Given the description of an element on the screen output the (x, y) to click on. 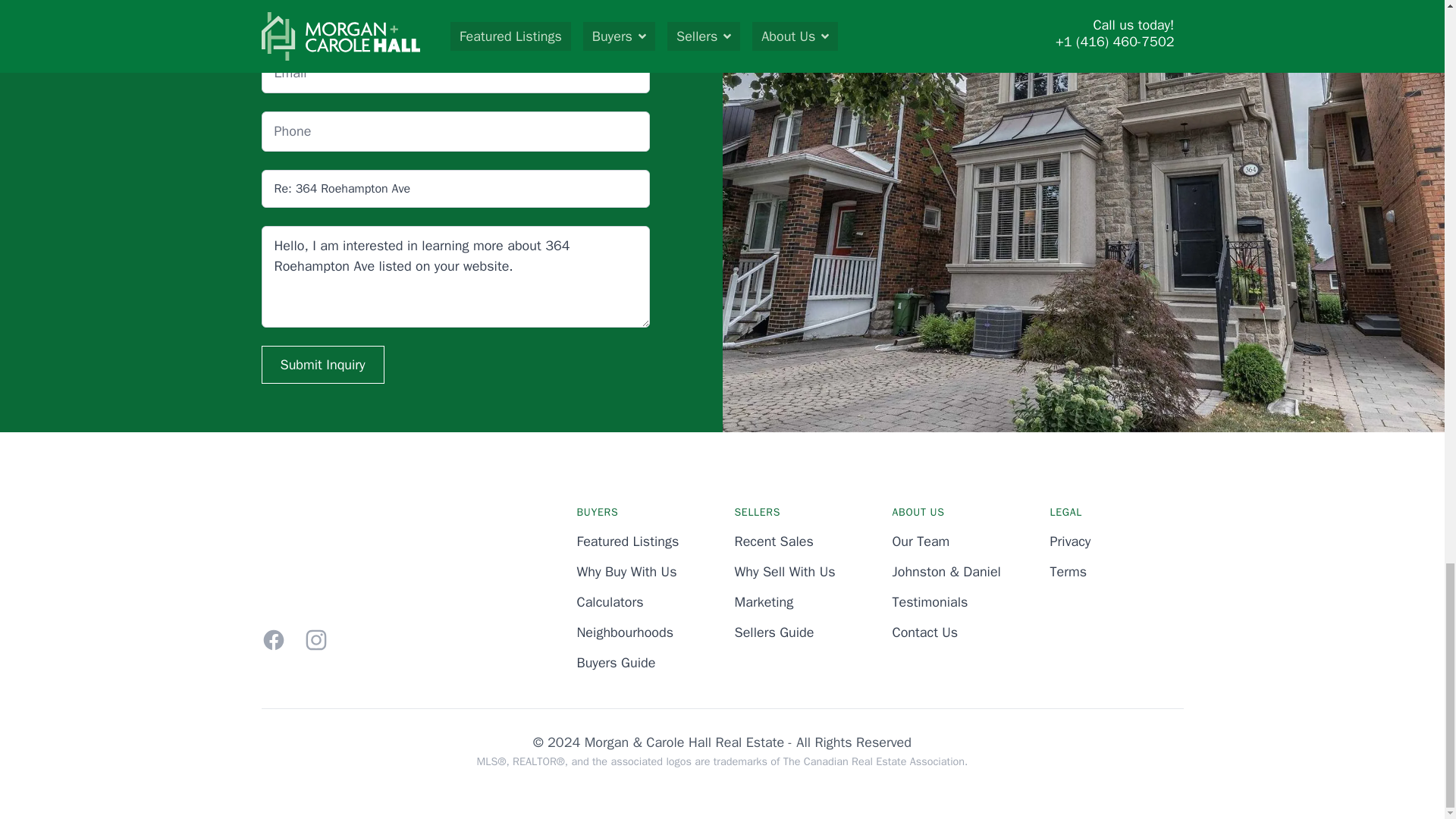
Instagram (314, 639)
Contact Us (924, 632)
Terms (1067, 571)
Sellers Guide (773, 632)
Neighbourhoods (624, 632)
Why Sell With Us (783, 571)
Our Team (920, 541)
Facebook (272, 639)
Testimonials (929, 601)
Featured Listings (627, 541)
